Given the description of an element on the screen output the (x, y) to click on. 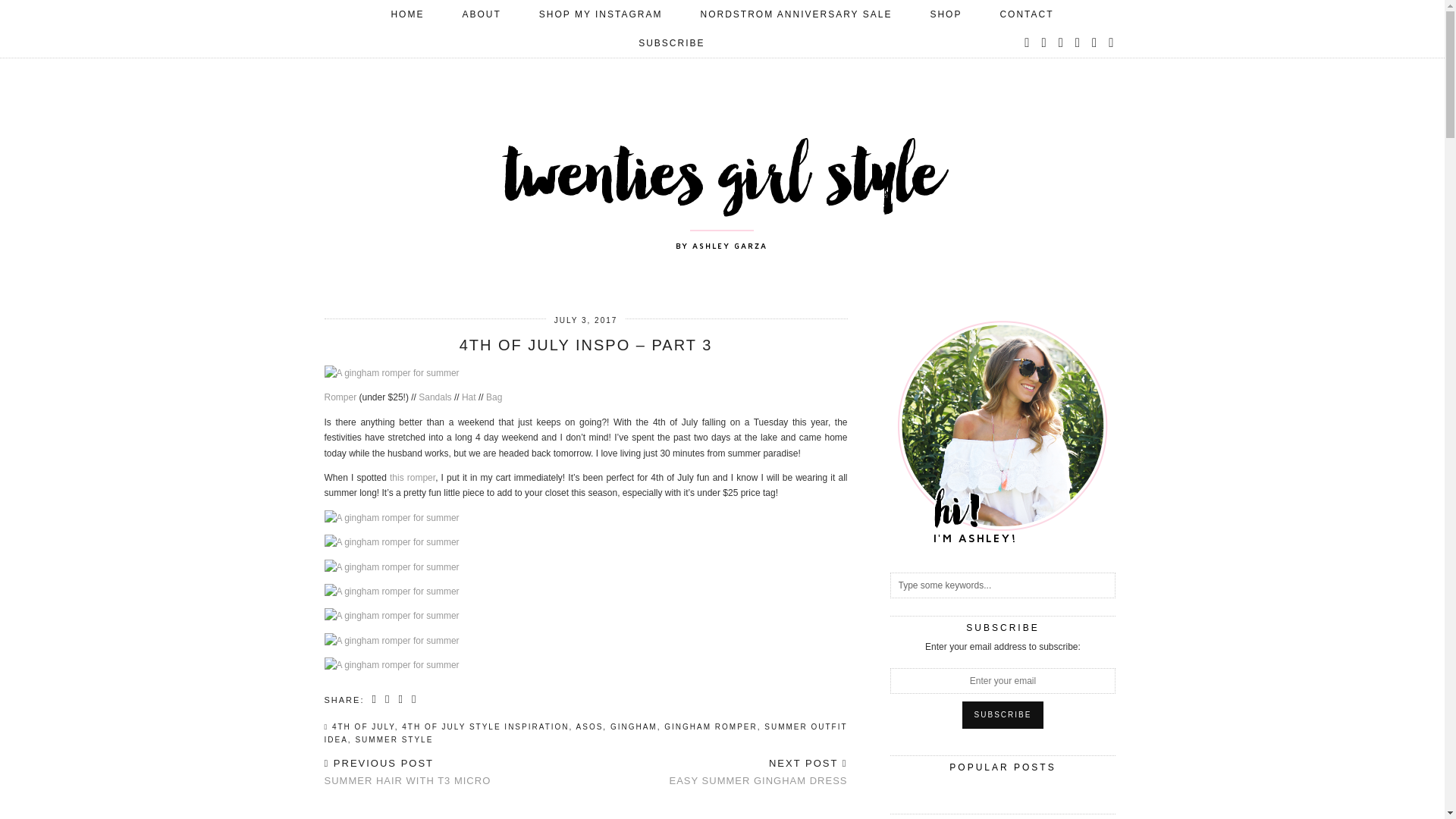
Subscribe (1002, 714)
SUBSCRIBE (671, 42)
SHOP MY INSTAGRAM (600, 14)
HOME (406, 14)
ABOUT (480, 14)
SHOP (945, 14)
CONTACT (1025, 14)
NORDSTROM ANNIVERSARY SALE (796, 14)
Romper (340, 397)
